Given the description of an element on the screen output the (x, y) to click on. 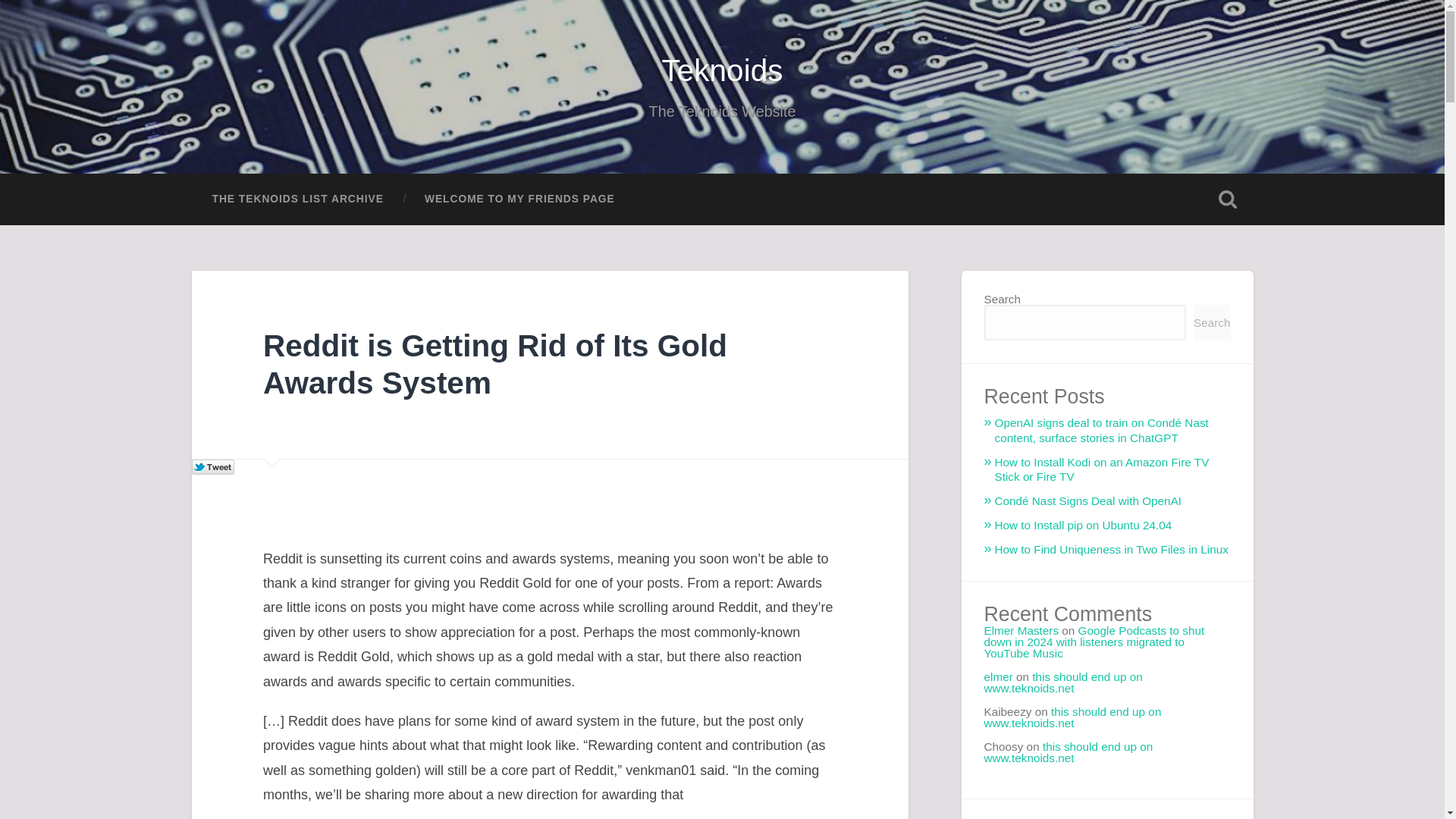
How to Install Kodi on an Amazon Fire TV Stick or Fire TV (1101, 469)
WELCOME TO MY FRIENDS PAGE (519, 199)
this should end up on www.teknoids.net (1063, 682)
Reddit is Getting Rid of Its Gold Awards System (494, 364)
Elmer Masters (1021, 630)
How to Install pip on Ubuntu 24.04 (1083, 524)
Teknoids (722, 70)
Search (1211, 322)
How to Find Uniqueness in Two Files in Linux (1111, 549)
elmer (998, 676)
